Given the description of an element on the screen output the (x, y) to click on. 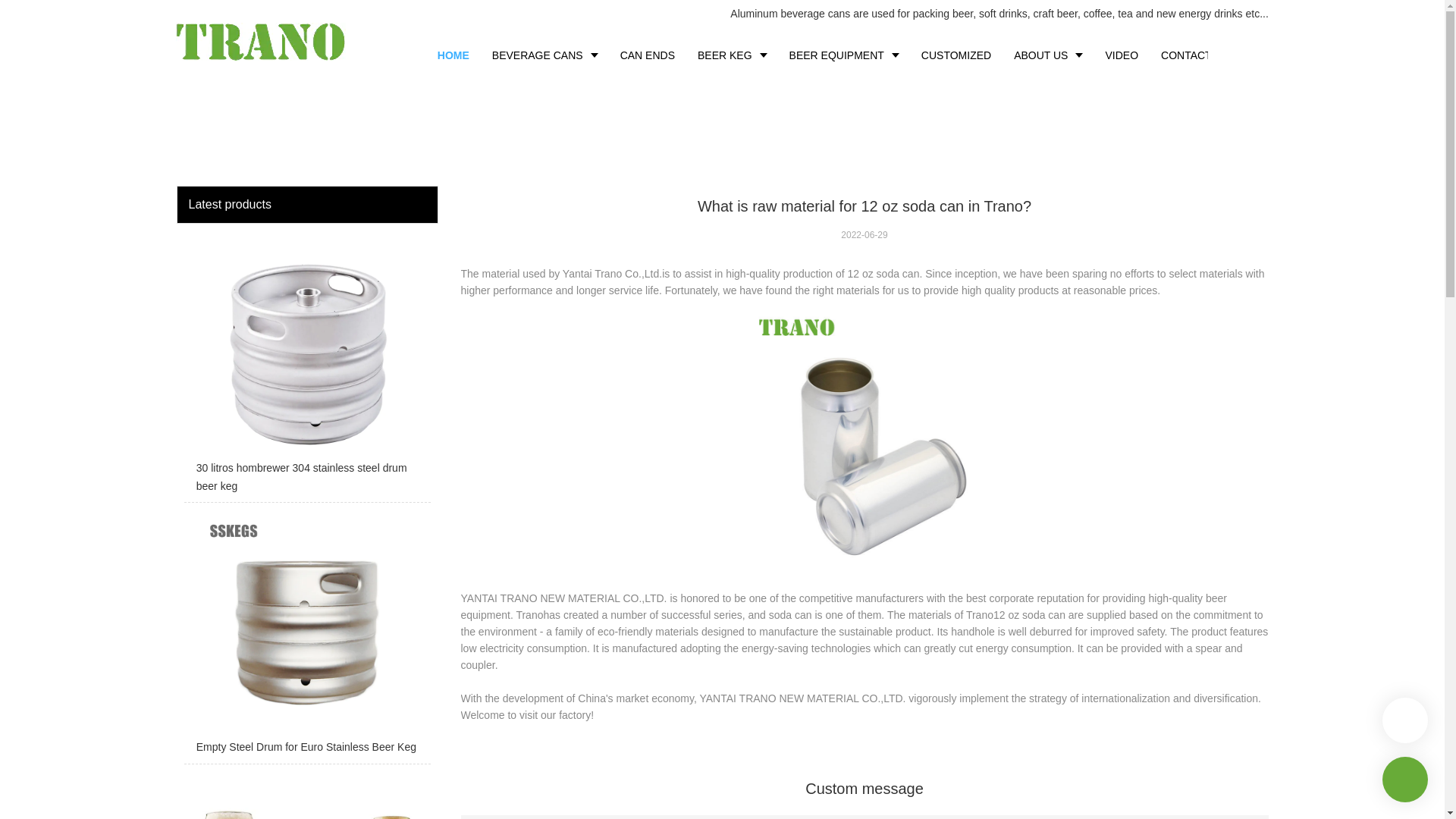
ABOUT US (1048, 55)
CUSTOMIZED (956, 55)
CAN ENDS (646, 55)
VIDEO (1121, 55)
30 litros hombrewer 304 stainless steel drum beer keg (306, 366)
HOME (453, 55)
Glass beer glasses (306, 795)
BEER EQUIPMENT (843, 55)
Empty Steel Drum for Euro Stainless Beer Keg (306, 636)
CONTACT US (1195, 55)
BEER KEG (731, 55)
BEVERAGE CANS (544, 55)
